Given the description of an element on the screen output the (x, y) to click on. 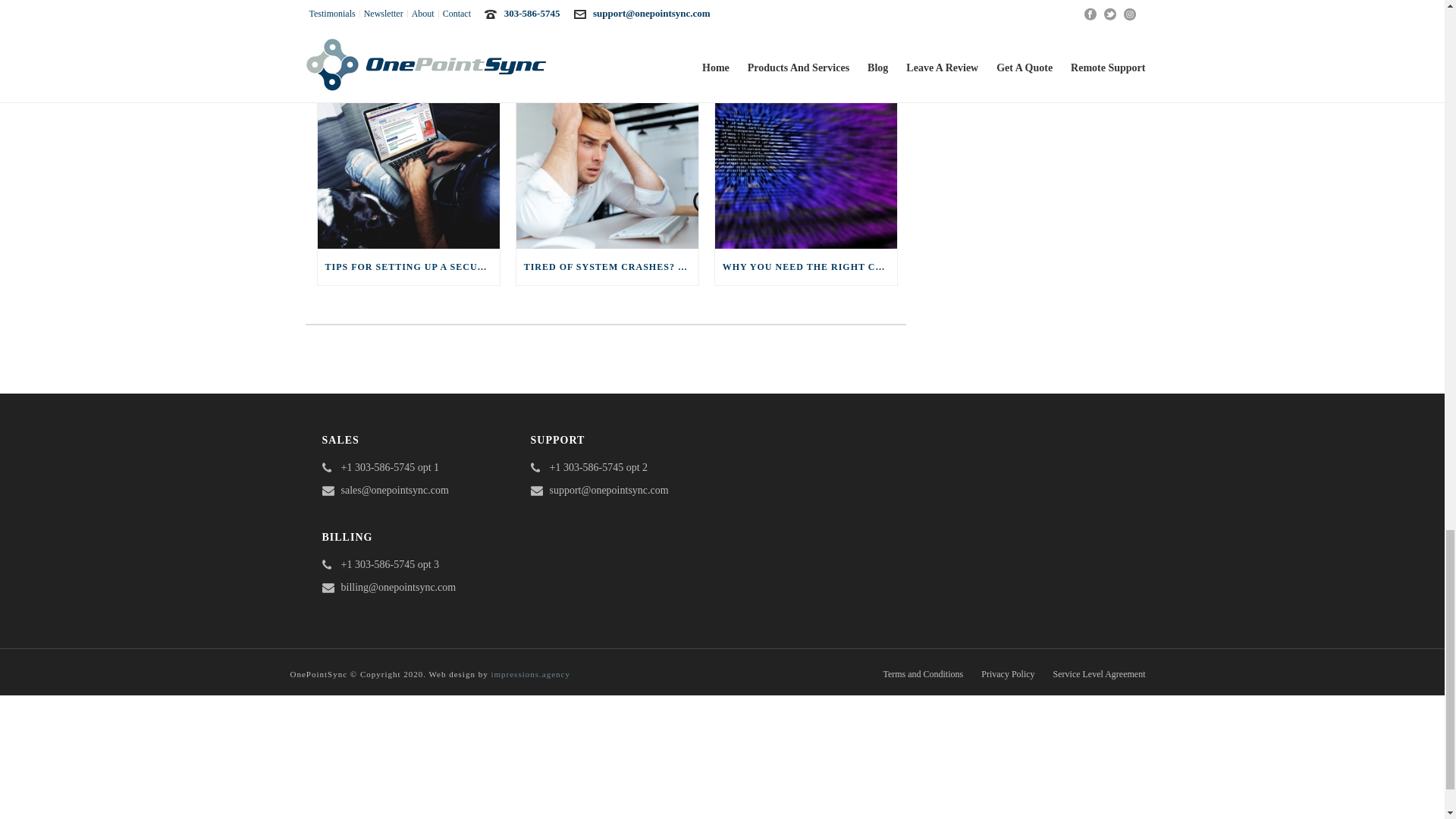
Why You Need The Right Cloud Services (805, 170)
Tips for Setting Up a Secure VPN for Your Remote Business (408, 170)
